Given the description of an element on the screen output the (x, y) to click on. 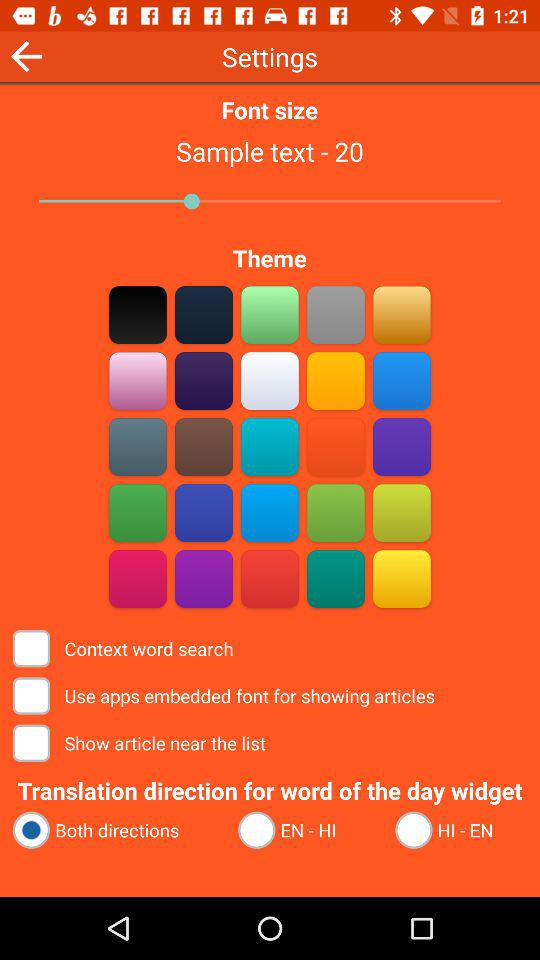
go back (26, 56)
